Given the description of an element on the screen output the (x, y) to click on. 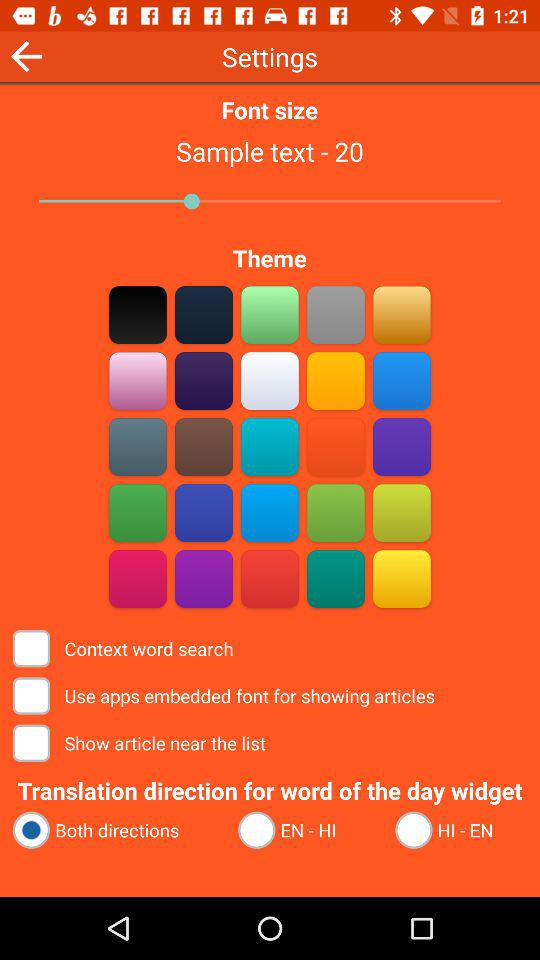
go back (26, 56)
